Given the description of an element on the screen output the (x, y) to click on. 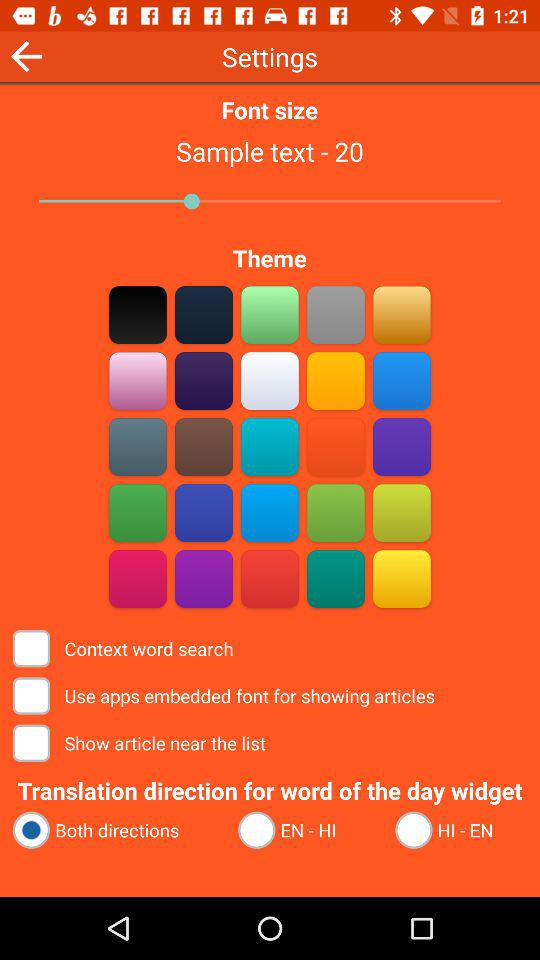
go back (26, 56)
